Given the description of an element on the screen output the (x, y) to click on. 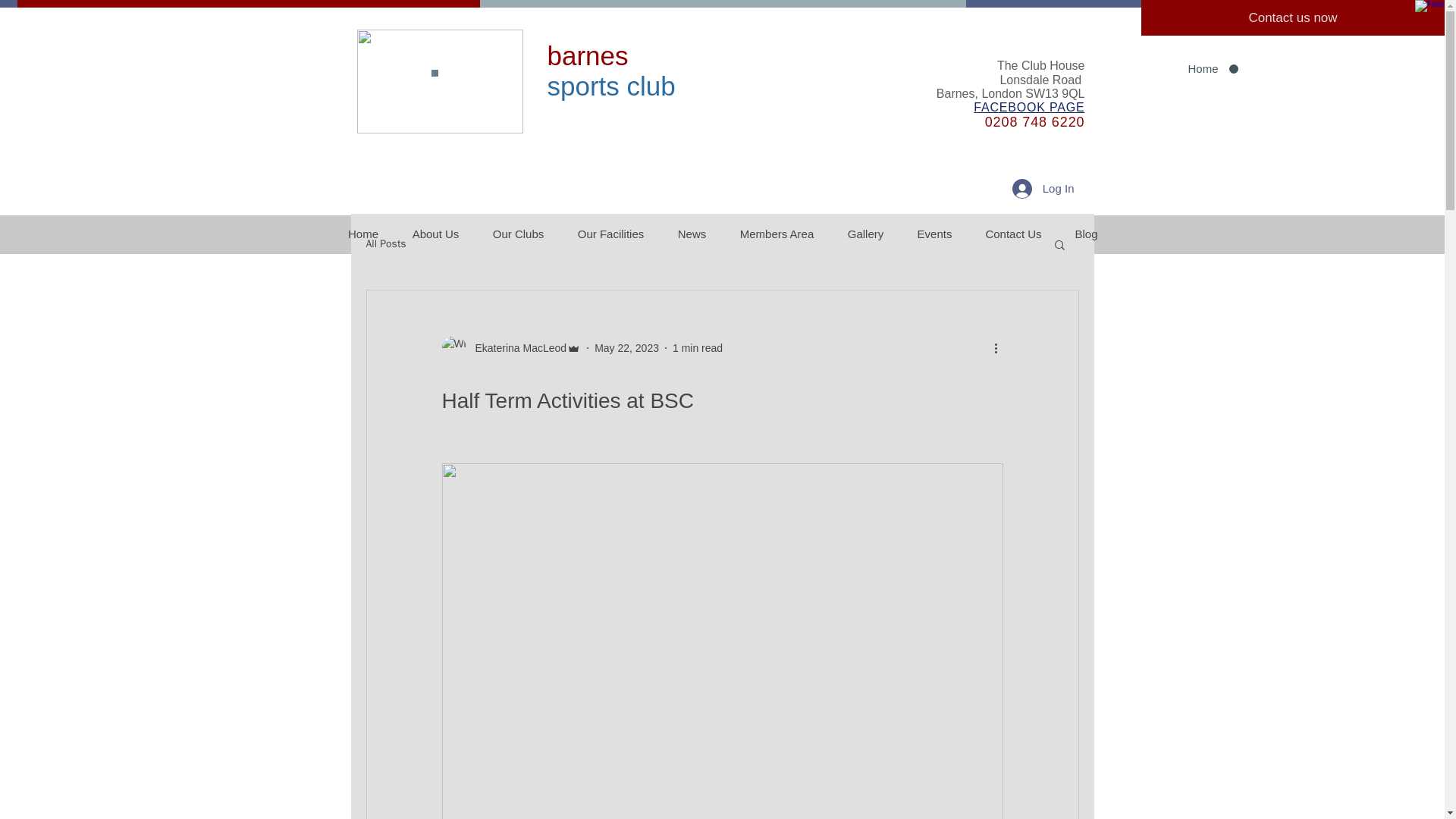
Members Area (777, 234)
News (692, 234)
1 min read (697, 346)
Contact Us (1013, 234)
About Us (436, 234)
FACEBOOK PAGE (1029, 106)
Blog (1086, 234)
Our Clubs (518, 234)
Gallery (866, 234)
Events (935, 234)
Ekaterina MacLeod (515, 347)
0208 748 6220 (1034, 121)
May 22, 2023 (626, 346)
Home (362, 234)
Our Facilities (610, 234)
